Given the description of an element on the screen output the (x, y) to click on. 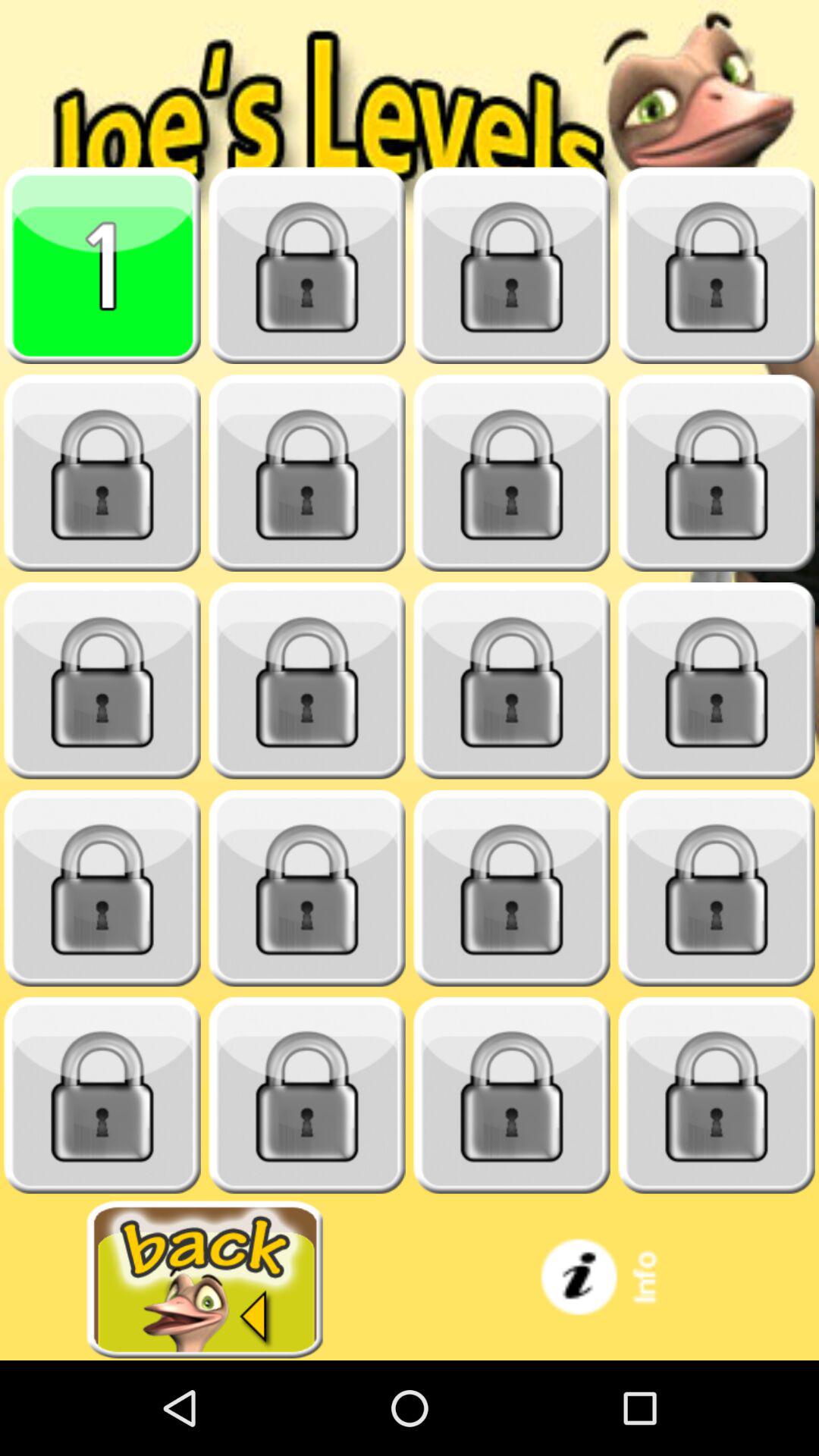
locked level (716, 473)
